Given the description of an element on the screen output the (x, y) to click on. 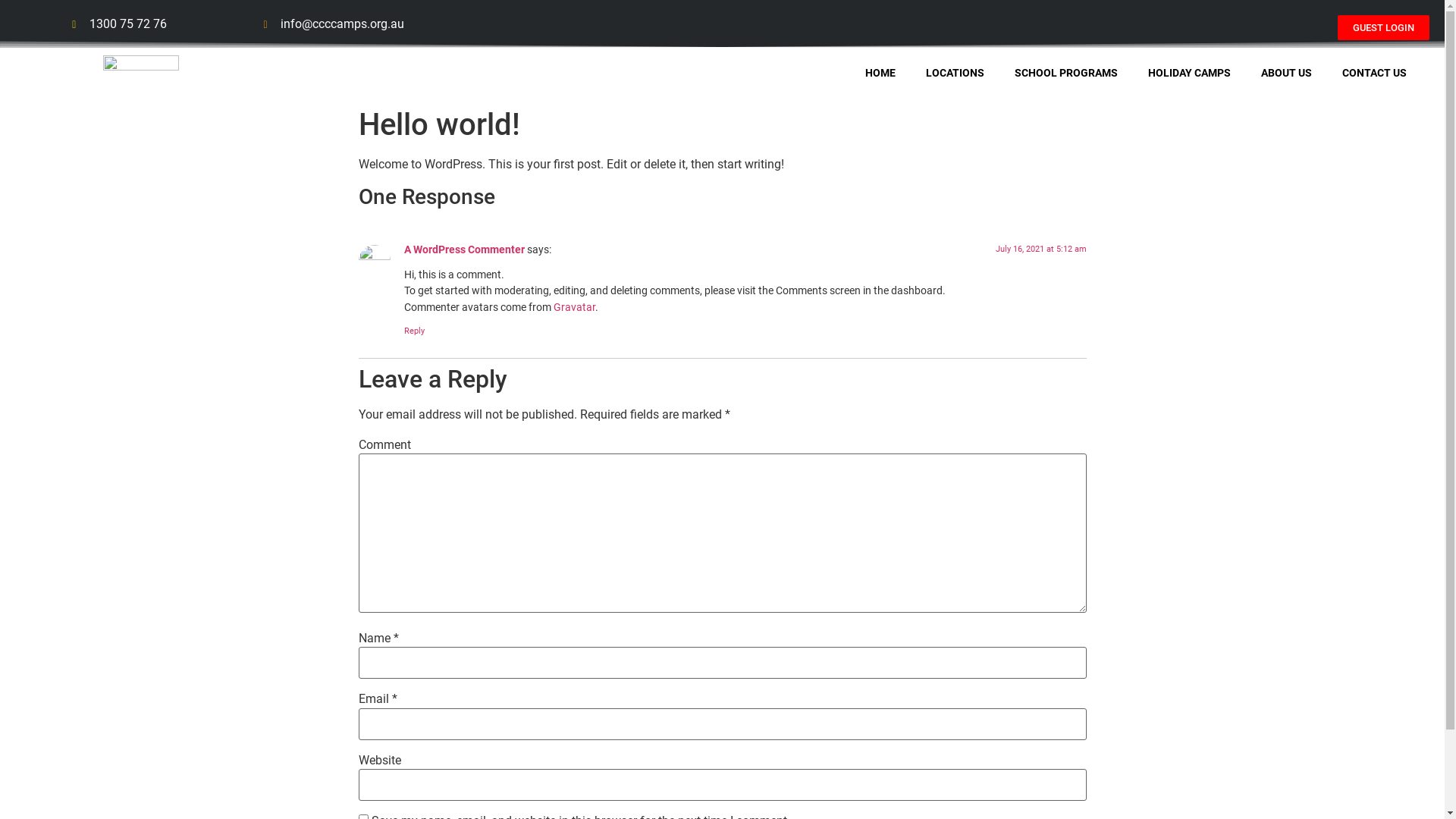
LOCATIONS Element type: text (954, 72)
Reply Element type: text (413, 330)
A WordPress Commenter Element type: text (463, 249)
GUEST LOGIN Element type: text (1383, 27)
CONTACT US Element type: text (1374, 72)
ABOUT US Element type: text (1286, 72)
HOLIDAY CAMPS Element type: text (1188, 72)
HOME Element type: text (880, 72)
info@ccccamps.org.au Element type: text (333, 24)
Gravatar Element type: text (574, 307)
SCHOOL PROGRAMS Element type: text (1065, 72)
July 16, 2021 at 5:12 am Element type: text (1039, 249)
